Given the description of an element on the screen output the (x, y) to click on. 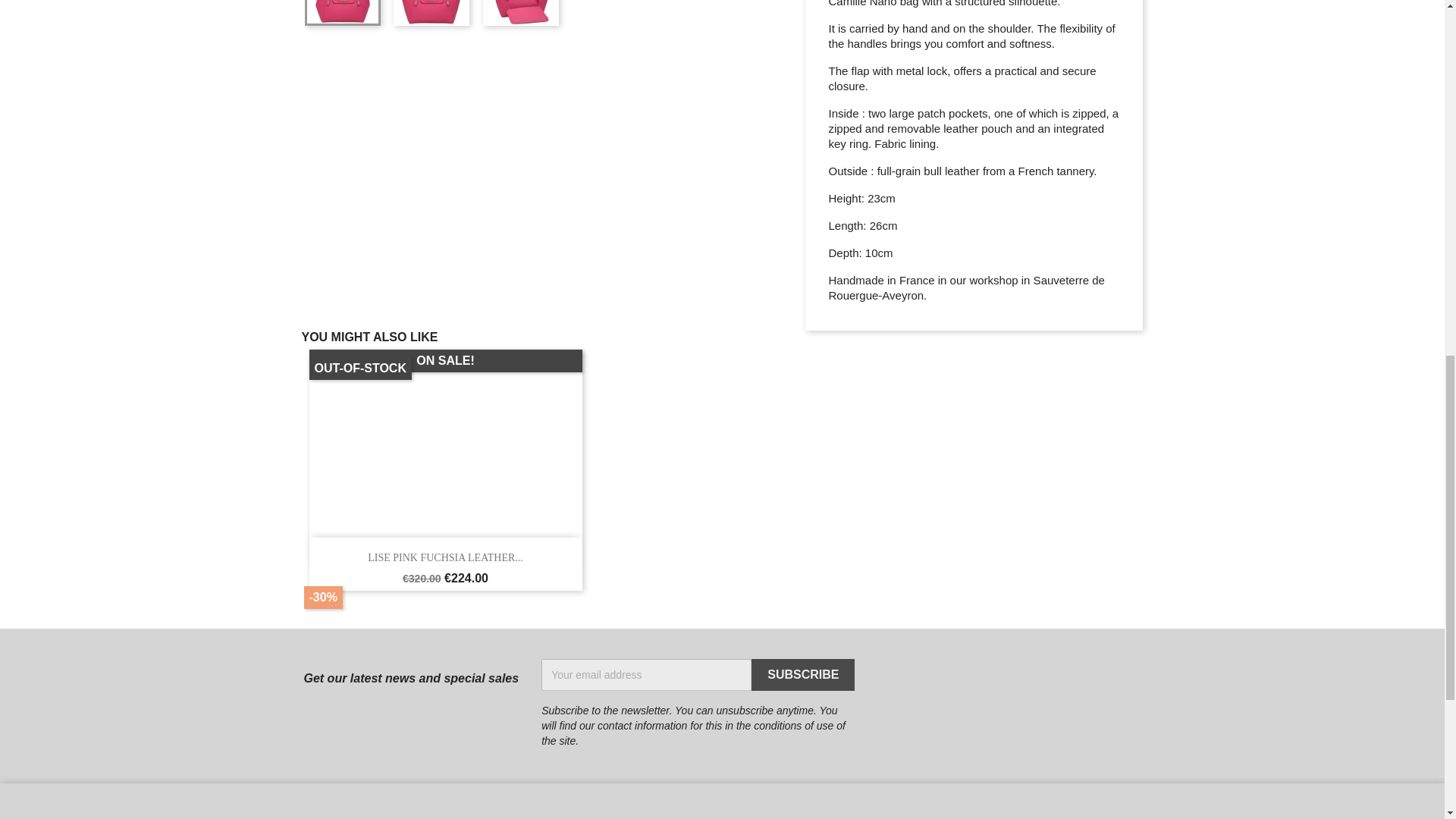
Subscribe (802, 675)
